Given the description of an element on the screen output the (x, y) to click on. 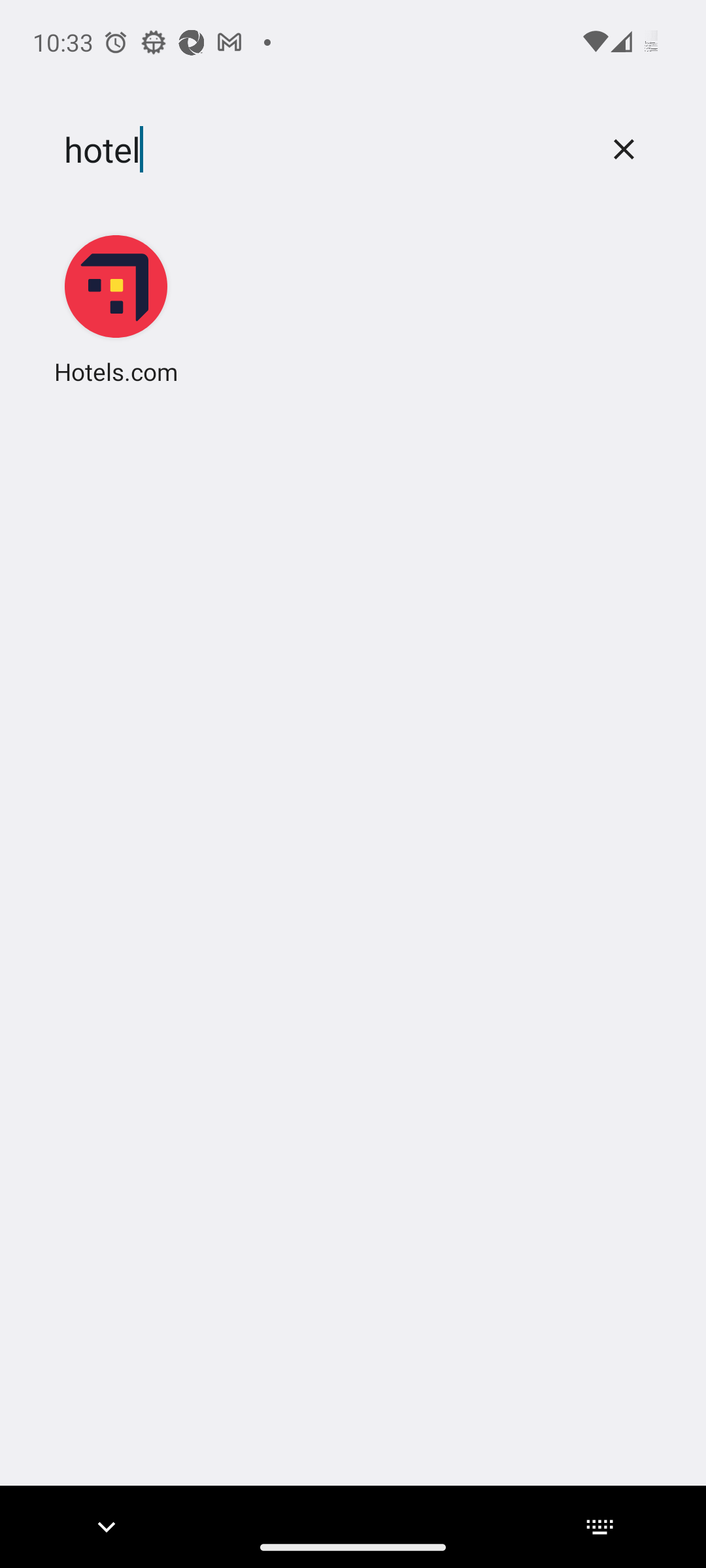
hotel (321, 149)
Clear search box (623, 149)
Hotels.com (115, 308)
